Given the description of an element on the screen output the (x, y) to click on. 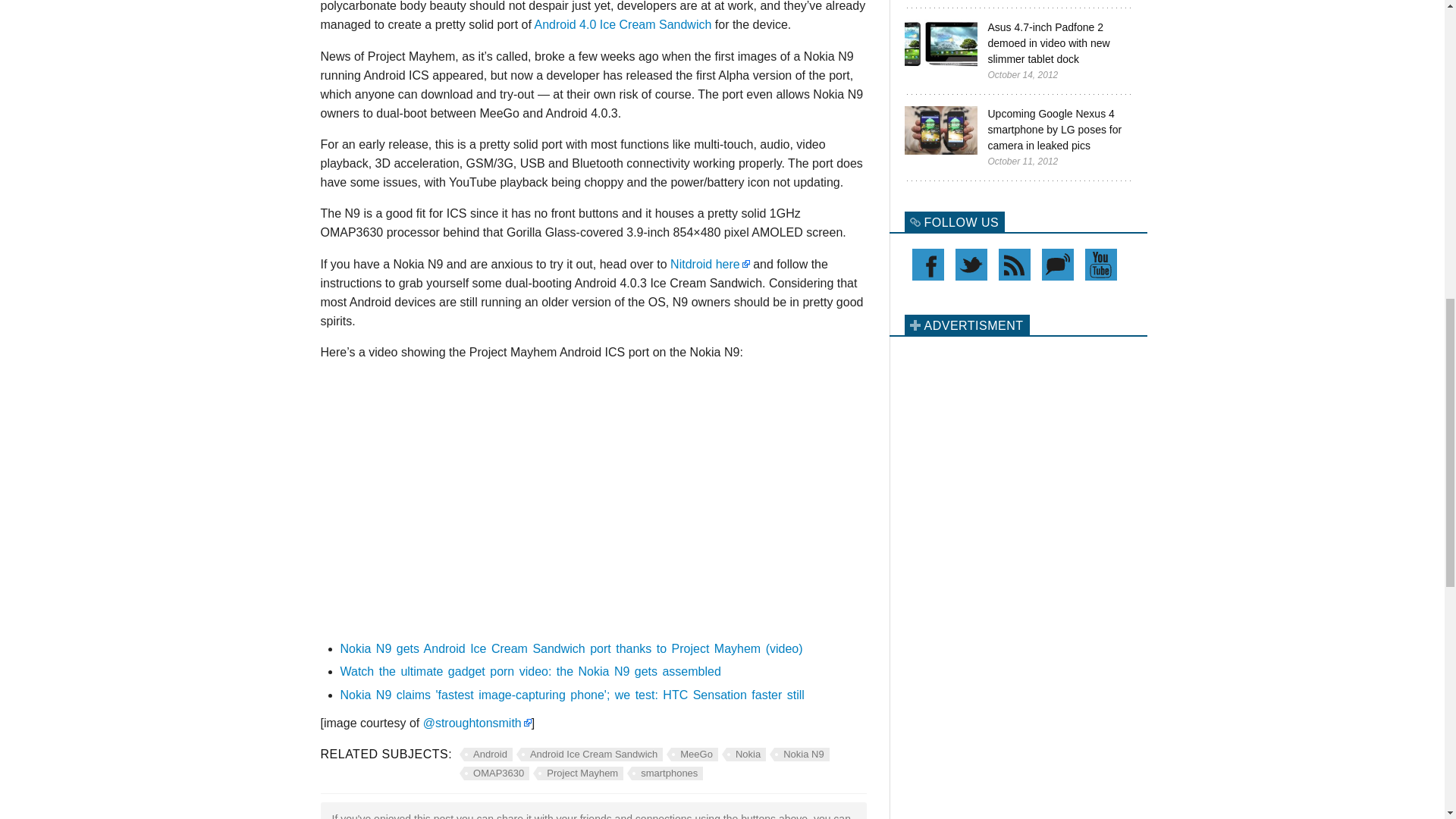
Nokia (743, 754)
Android Ice Cream Sandwich (589, 754)
Android (486, 754)
Android 4.0 Ice Cream Sandwich (622, 24)
MeeGo (691, 754)
OMAP3630 (494, 773)
smartphones (665, 773)
Nokia N9 (799, 754)
Project Mayhem (577, 773)
Nitdroid here (709, 264)
